Given the description of an element on the screen output the (x, y) to click on. 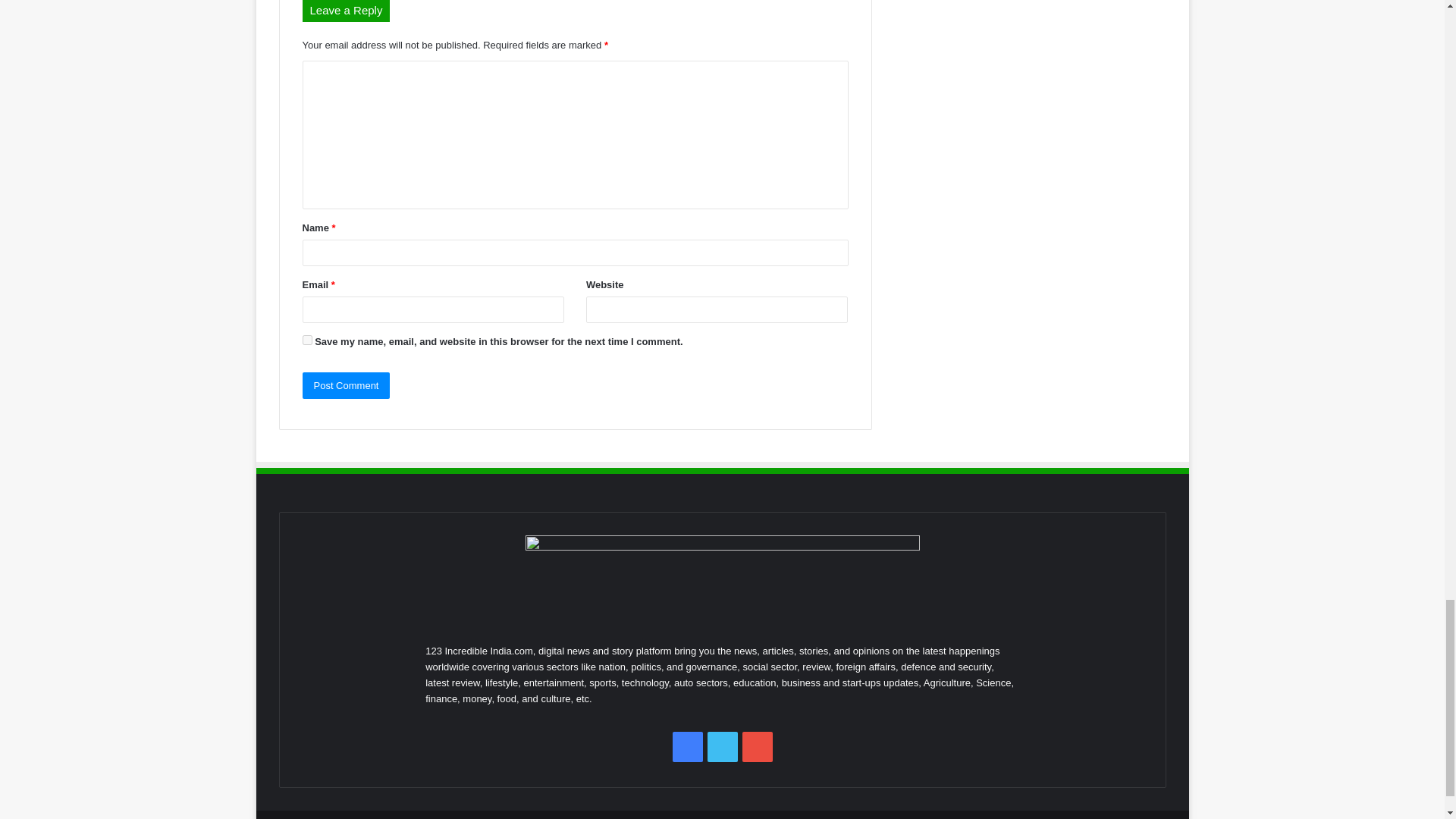
yes (306, 339)
Post Comment (345, 385)
